Given the description of an element on the screen output the (x, y) to click on. 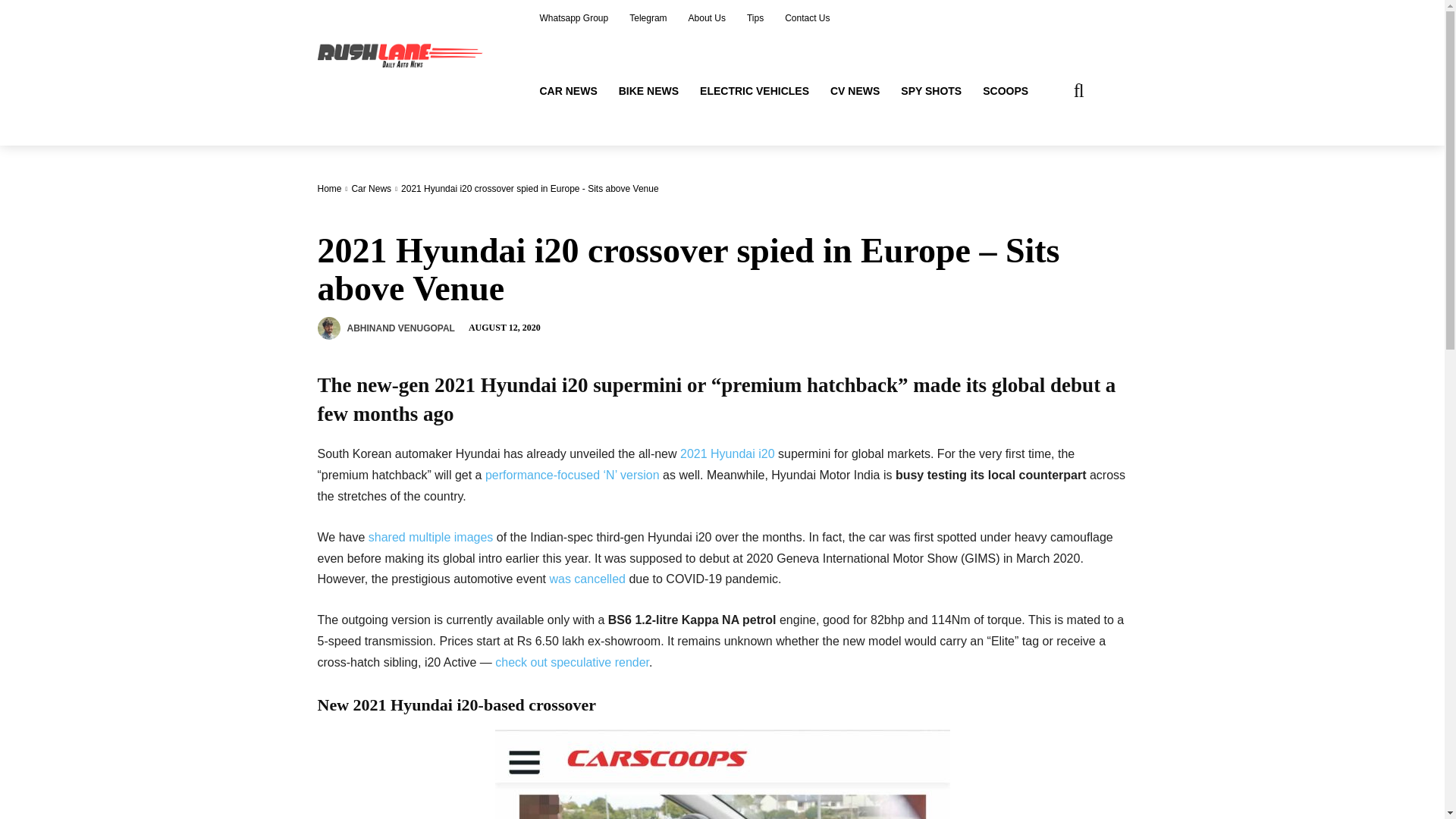
View all posts in Car News (370, 188)
SPY SHOTS (930, 90)
About Us (707, 18)
SCOOPS (1005, 90)
rushlane logo (404, 53)
ELECTRIC VEHICLES (753, 90)
BIKE NEWS (648, 90)
Whatsapp Group (574, 18)
CV NEWS (854, 90)
Home (328, 188)
CAR NEWS (568, 90)
Car News (370, 188)
rushlane logo (401, 53)
Contact Us (807, 18)
Tips (755, 18)
